Given the description of an element on the screen output the (x, y) to click on. 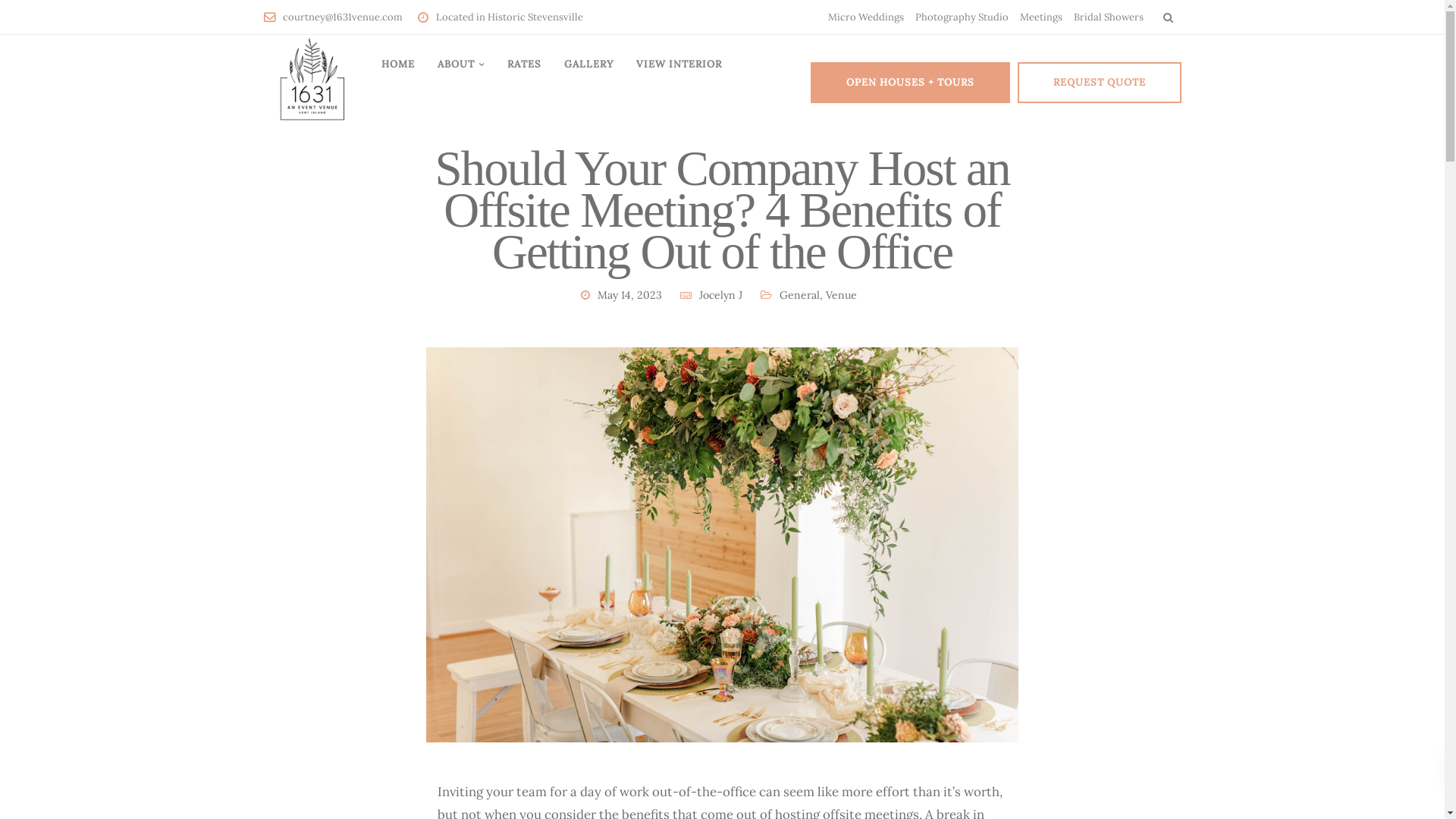
Venue Element type: text (840, 294)
Meetings Element type: text (1040, 16)
Photography Studio Element type: text (960, 16)
8 Creative Baby Shower Themes for Your Kent Island Baby Bash Element type: text (710, 562)
GALLERY Element type: text (588, 63)
Privacy policy Element type: text (432, 359)
VIEW INTERIOR Element type: text (678, 63)
OPEN HOUSES + TOURS Element type: text (909, 82)
ABOUT Element type: text (460, 63)
Jocelyn J Element type: text (720, 294)
Micro Weddings Element type: text (865, 16)
Terms and conditions Element type: text (318, 359)
Rates Element type: text (506, 359)
HOME Element type: text (398, 63)
REQUEST QUOTE Element type: text (1099, 82)
LINK TO GOOGLE DIRECTIONS Element type: text (1045, 560)
Bridal Showers Element type: text (1108, 16)
RATES Element type: text (523, 63)
courtney@1631venue.com Element type: text (345, 16)
General Element type: text (799, 294)
